Given the description of an element on the screen output the (x, y) to click on. 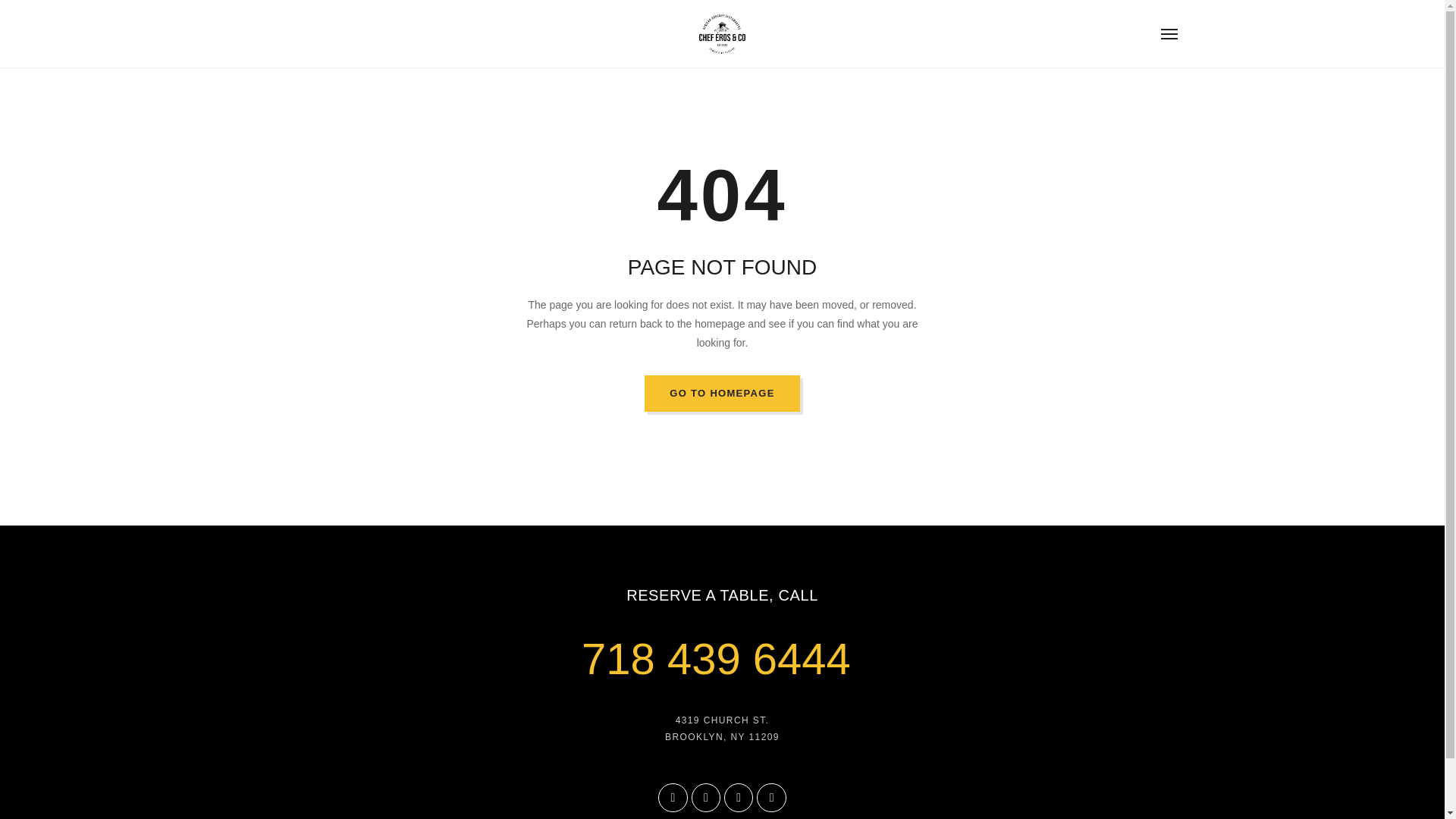
GO TO HOMEPAGE (722, 393)
